Given the description of an element on the screen output the (x, y) to click on. 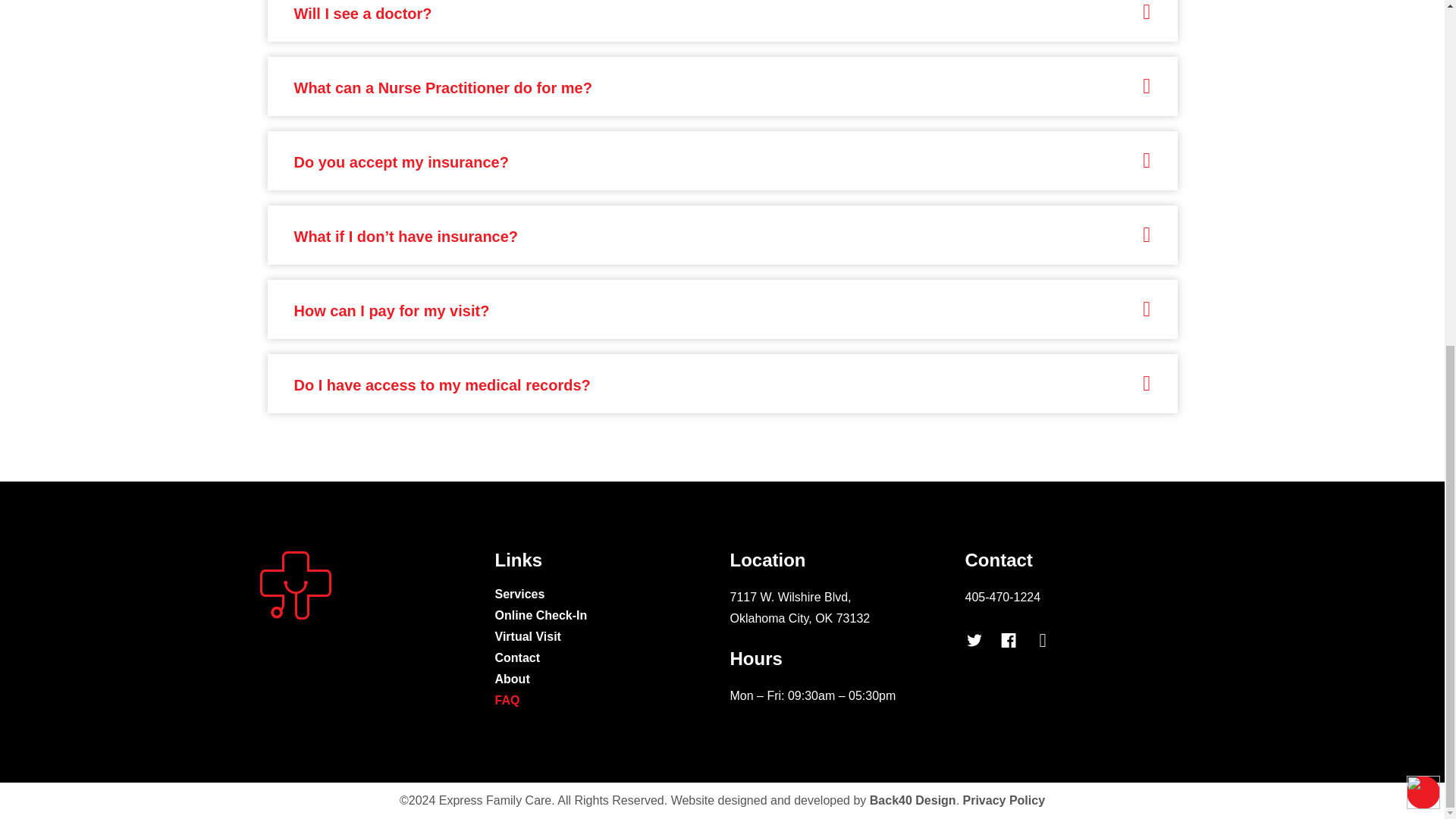
What can a Nurse Practitioner do for me? (443, 87)
About (604, 679)
Virtual Visit (604, 636)
How can I pay for my visit? (391, 310)
Do you accept my insurance? (401, 161)
Services (604, 594)
FAQ (604, 700)
Contact (604, 657)
Will I see a doctor? (363, 13)
Do I have access to my medical records? (442, 384)
Accessibility Menu (1422, 200)
Online Check-In (604, 615)
